Given the description of an element on the screen output the (x, y) to click on. 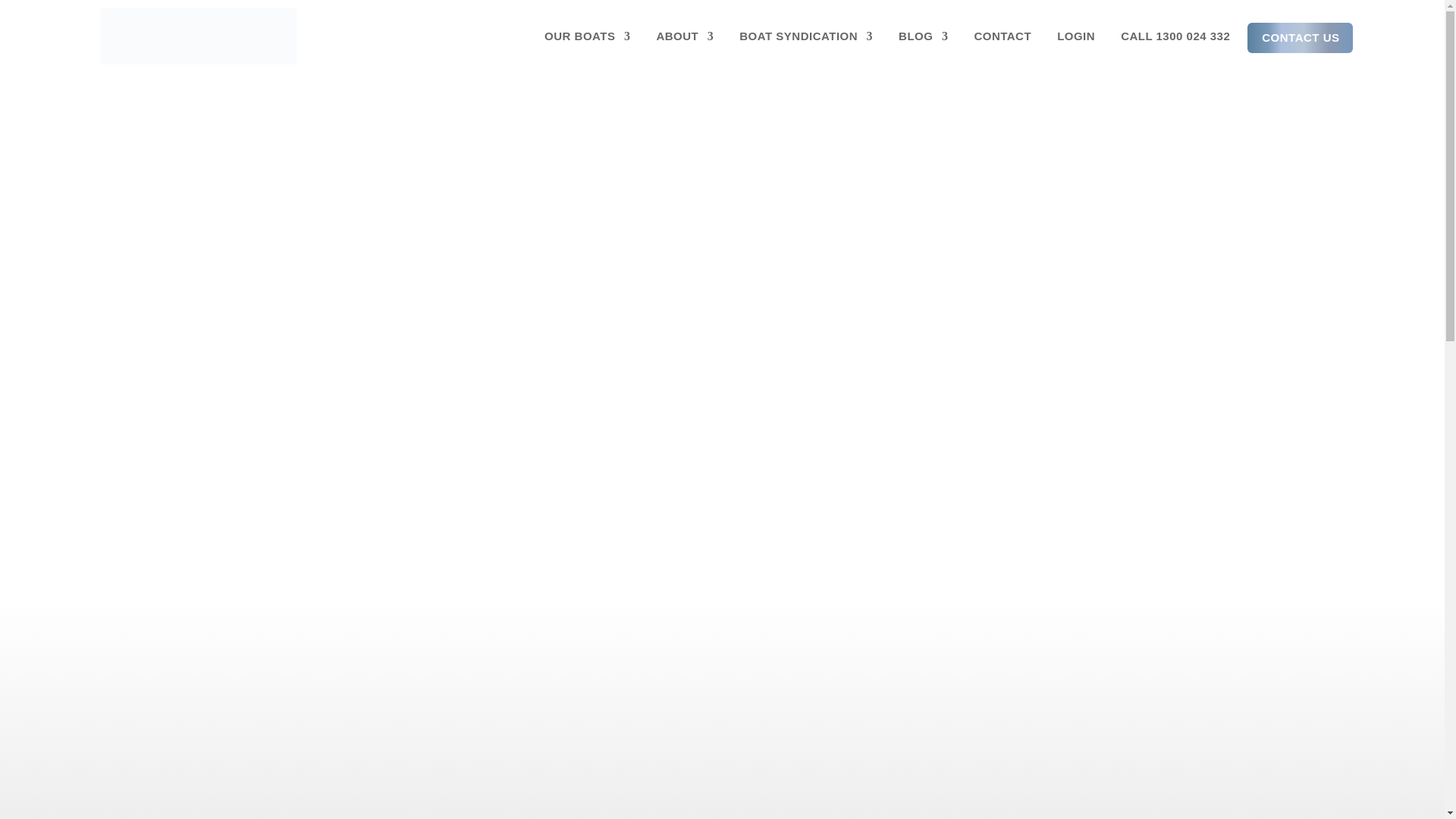
CONTACT US (1294, 37)
OUR BOATS (587, 36)
CALL 1300 024 332 (1175, 36)
CONTACT (1002, 36)
ABOUT (684, 36)
BOAT SYNDICATION (805, 36)
